Given the description of an element on the screen output the (x, y) to click on. 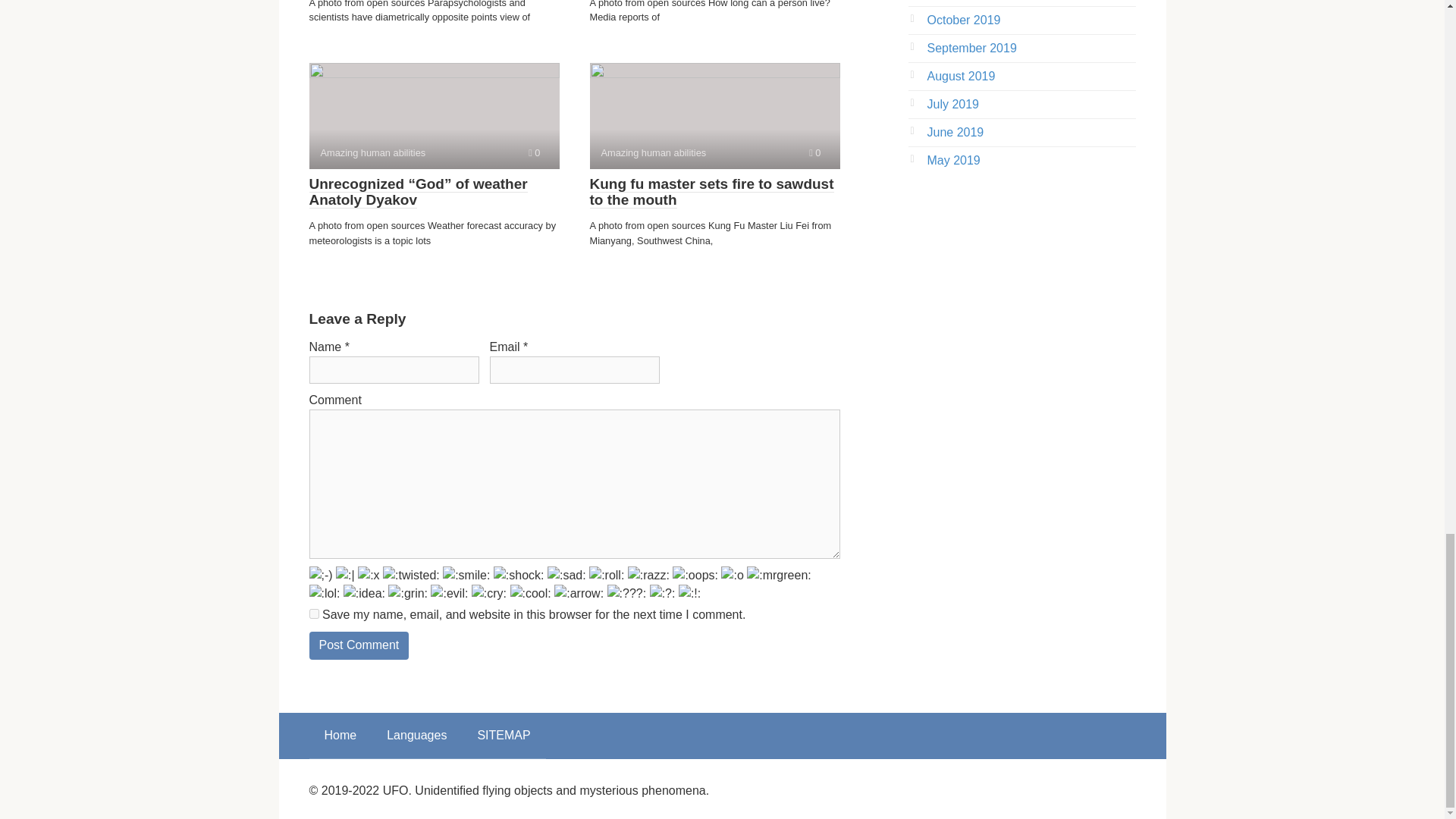
Kung fu master sets fire to sawdust to the mouth (711, 192)
yes (714, 115)
Post Comment (313, 614)
Post Comment (358, 645)
Comments (358, 645)
Comments (815, 152)
